Given the description of an element on the screen output the (x, y) to click on. 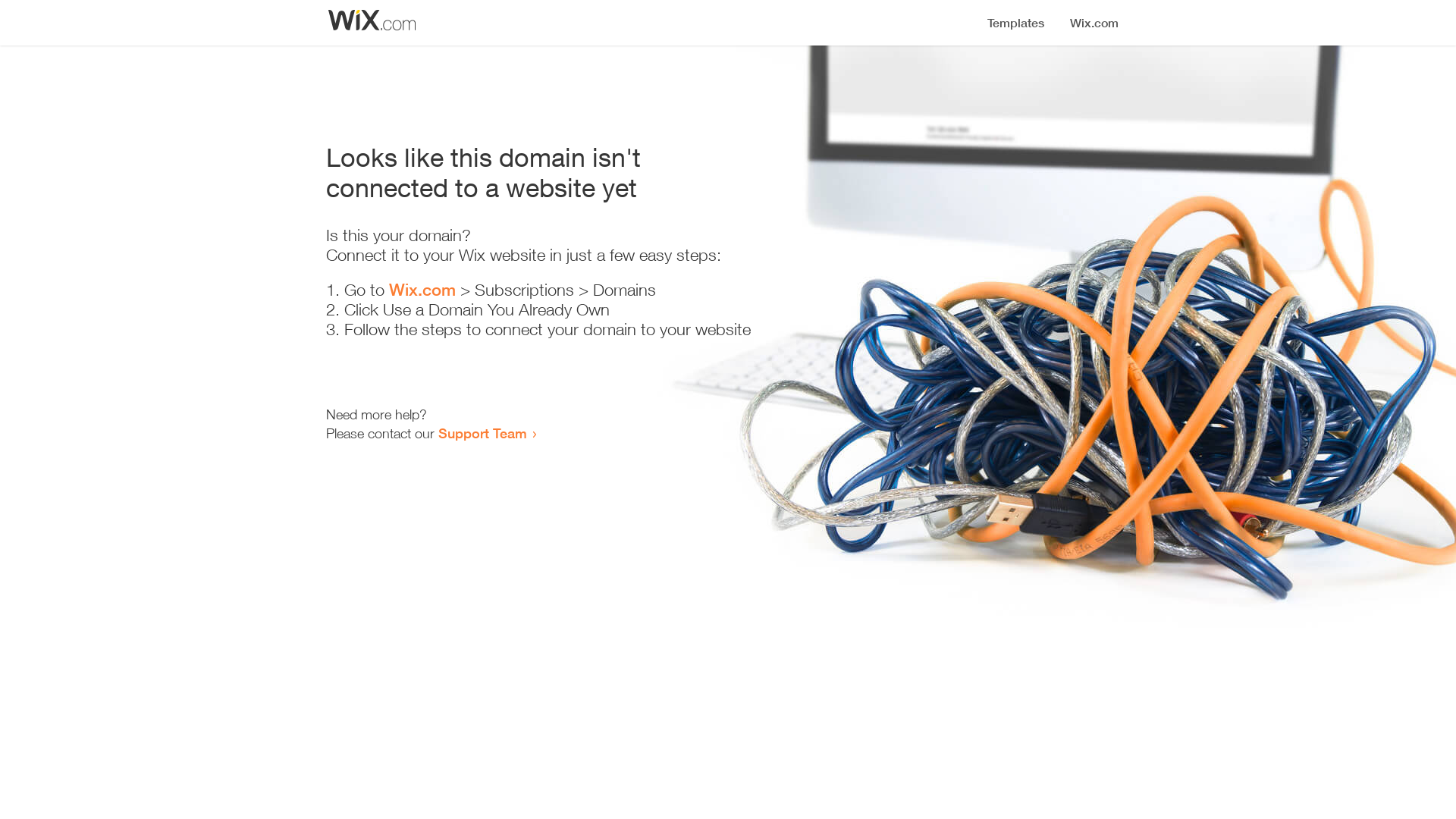
Support Team Element type: text (482, 432)
Wix.com Element type: text (422, 289)
